Given the description of an element on the screen output the (x, y) to click on. 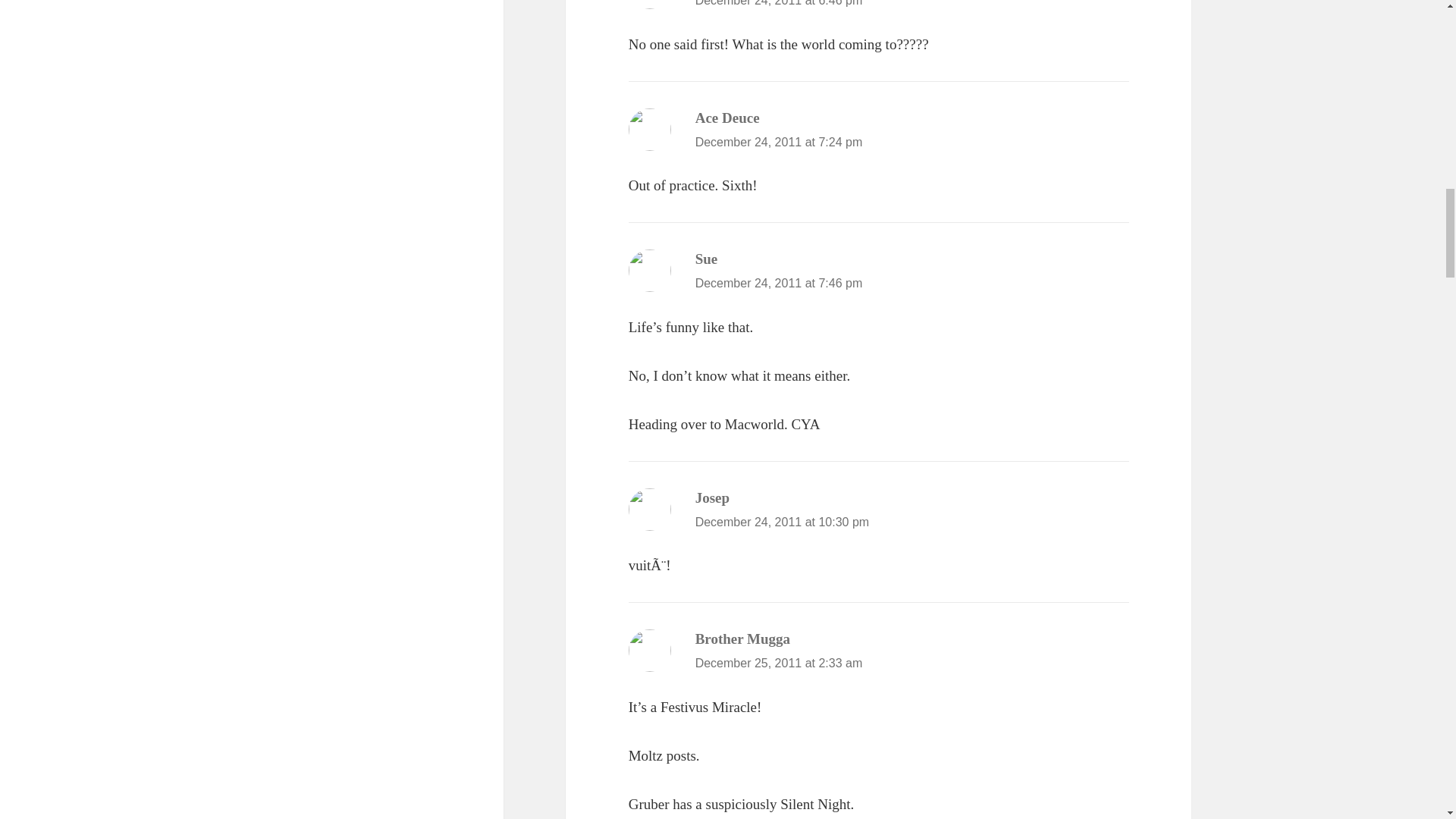
December 24, 2011 at 7:24 pm (779, 141)
December 24, 2011 at 7:46 pm (779, 282)
December 24, 2011 at 10:30 pm (782, 521)
December 25, 2011 at 2:33 am (779, 662)
December 24, 2011 at 6:46 pm (779, 3)
